Given the description of an element on the screen output the (x, y) to click on. 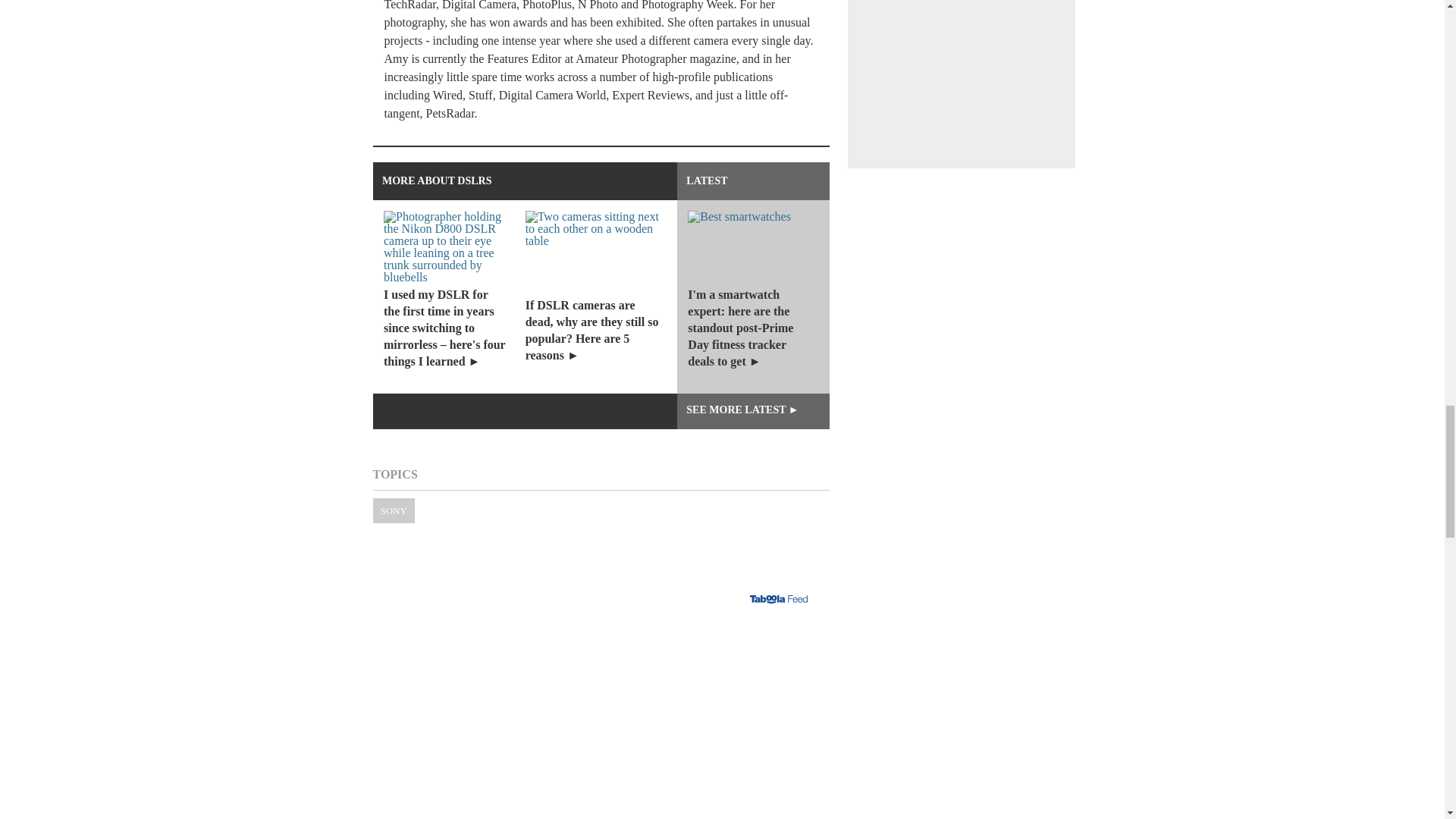
If you own a mouse, play it for 1 minute. (600, 726)
